Given the description of an element on the screen output the (x, y) to click on. 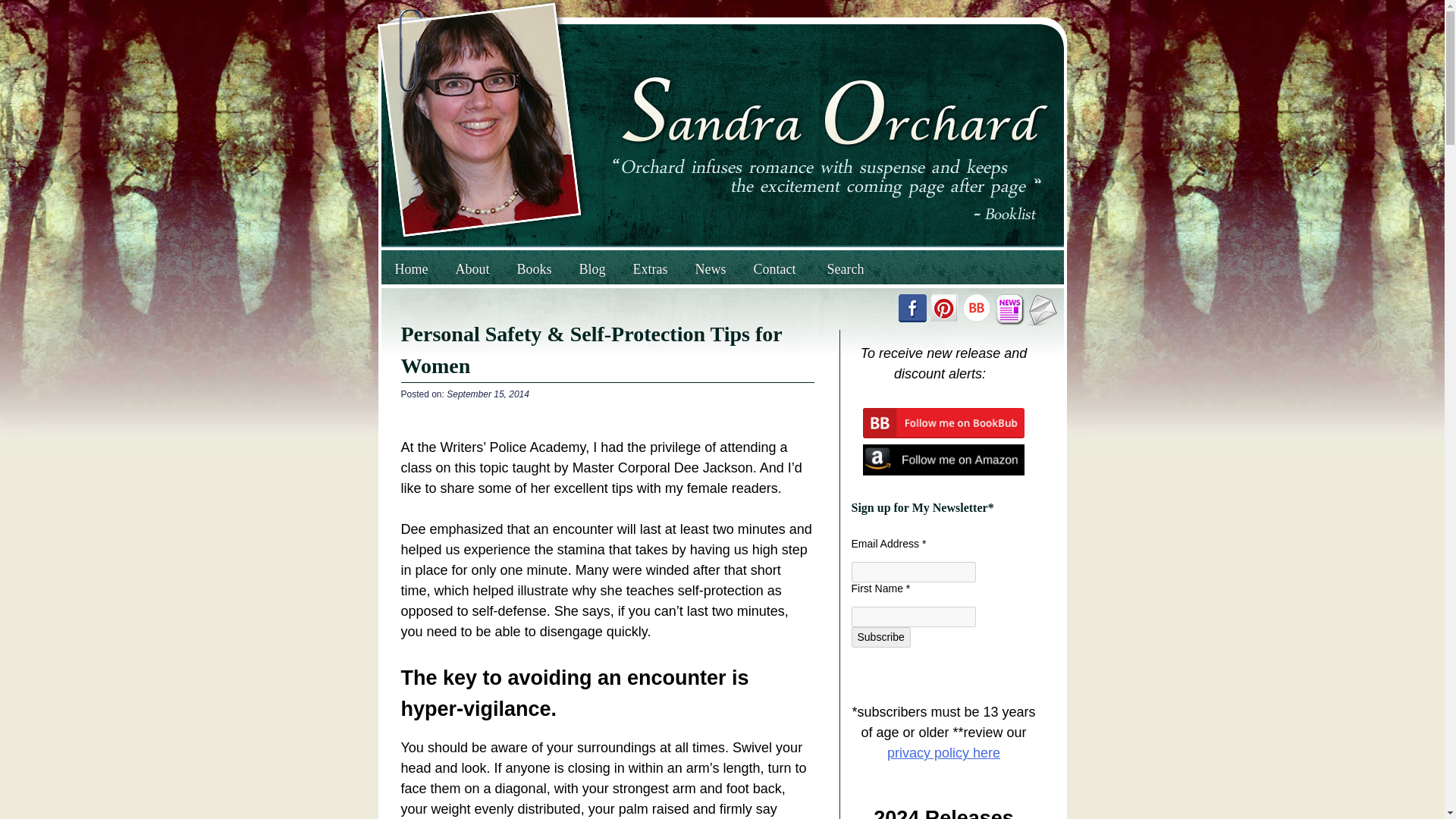
Books (534, 269)
Follow me on Facebook. (912, 308)
Sign up for my newsletter. (1008, 309)
About (471, 269)
Home (410, 269)
Visit me on Pinterest. (944, 308)
Visit me on Book Bub. (975, 308)
Contact Sandra (1042, 309)
Contact Sandra (1042, 321)
Subscribe (880, 637)
